Given the description of an element on the screen output the (x, y) to click on. 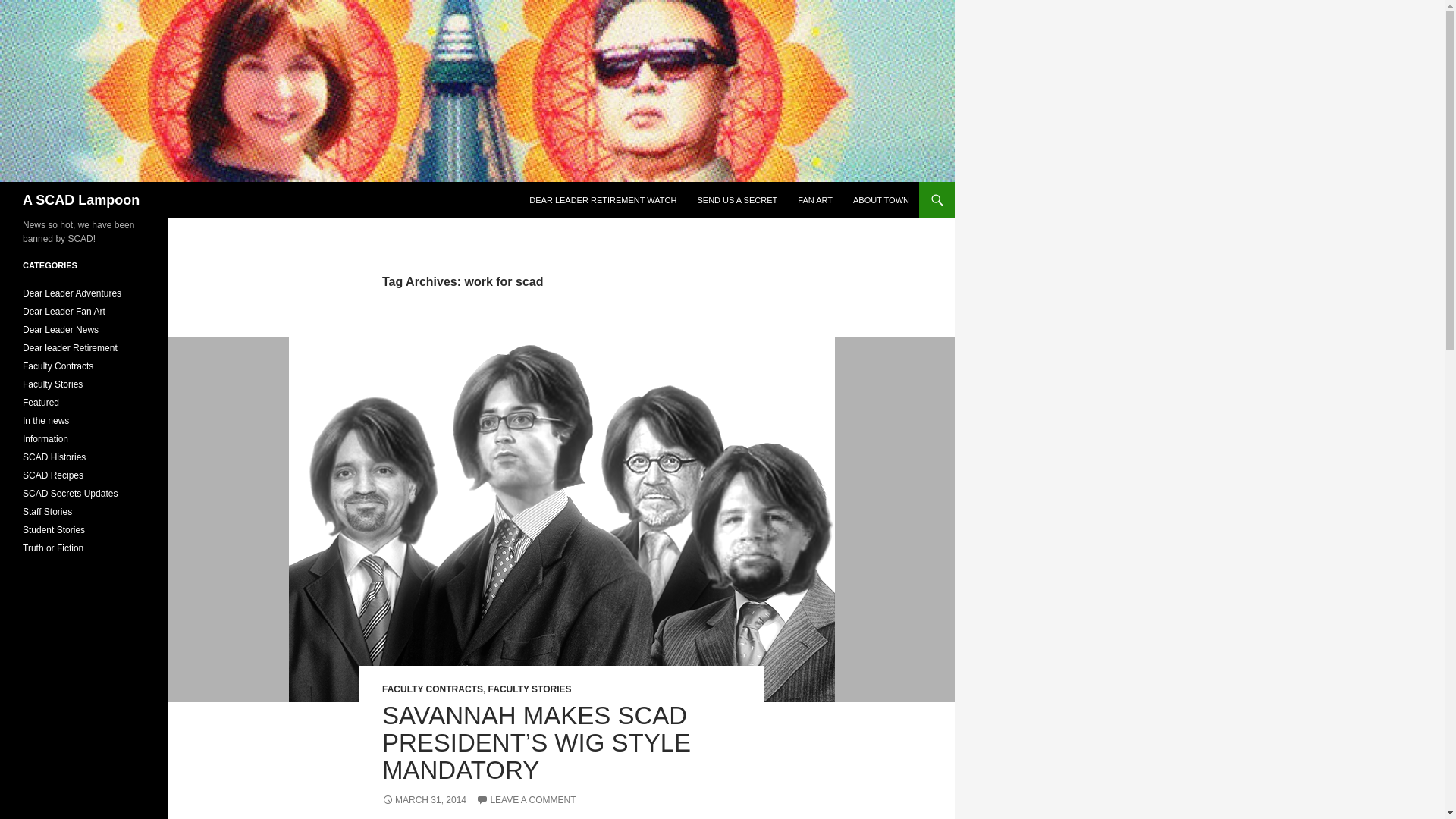
FAN ART (815, 199)
Dear Leader Fan Art (63, 311)
SCAD Secrets Updates (70, 493)
Faculty Contracts (58, 366)
Dear Leader News (61, 329)
MARCH 31, 2014 (423, 799)
LEAVE A COMMENT (525, 799)
SCAD Histories (54, 457)
In the news (45, 420)
